Given the description of an element on the screen output the (x, y) to click on. 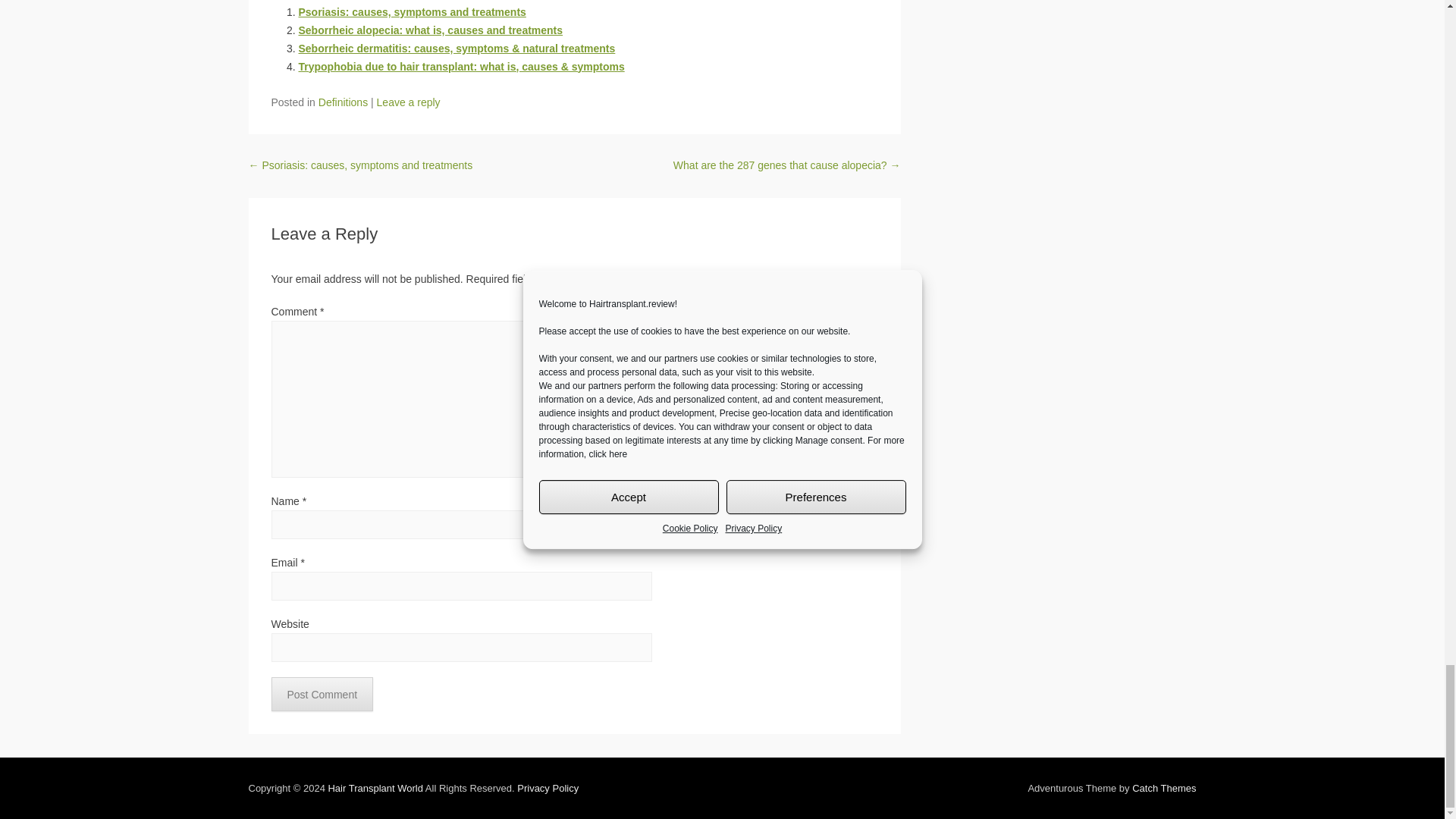
Psoriasis: causes, symptoms and treatments (411, 11)
Post Comment (322, 694)
Seborrheic alopecia: what is, causes and treatments (430, 30)
